Given the description of an element on the screen output the (x, y) to click on. 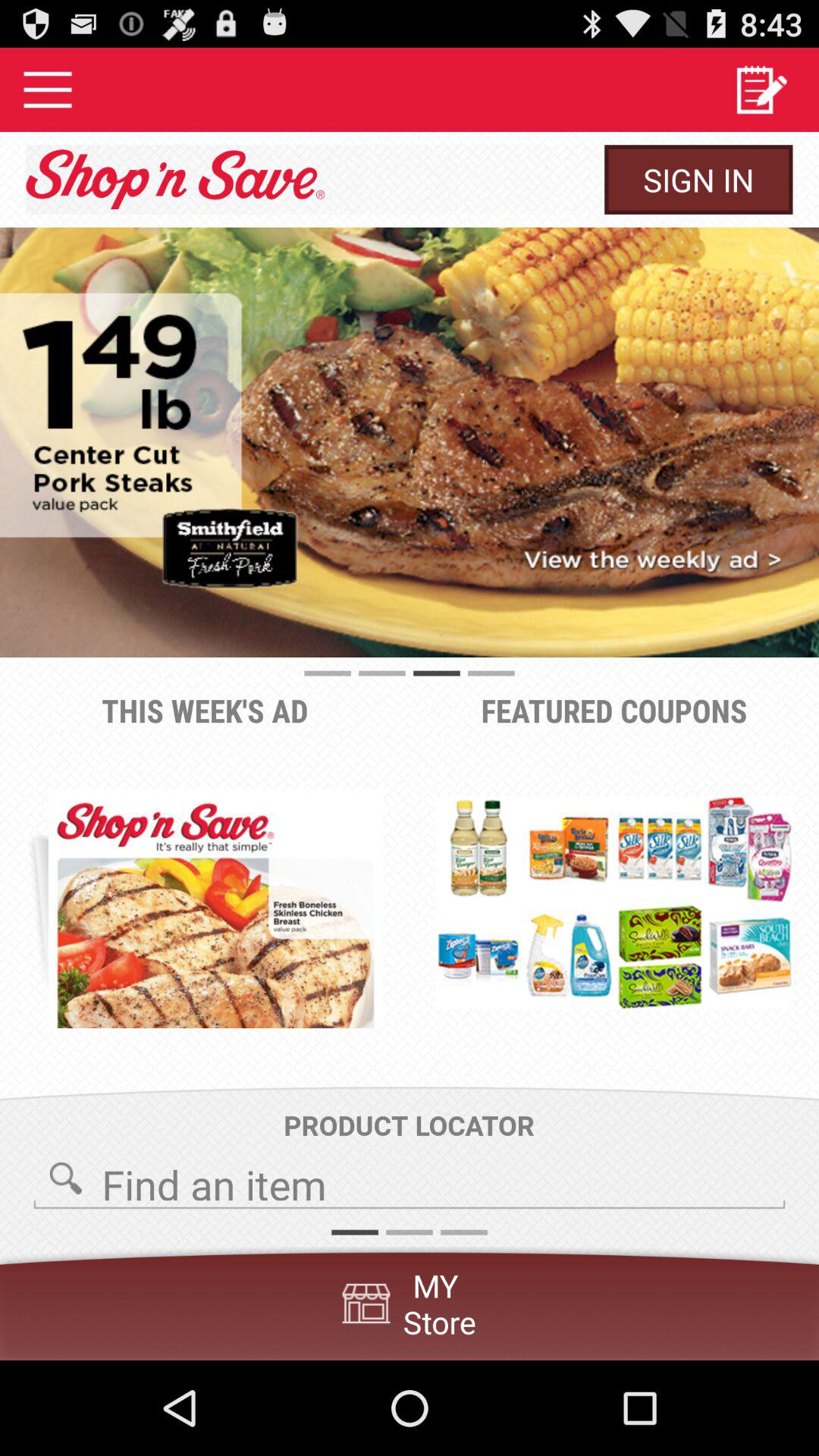
find image and shop save (409, 1179)
